Given the description of an element on the screen output the (x, y) to click on. 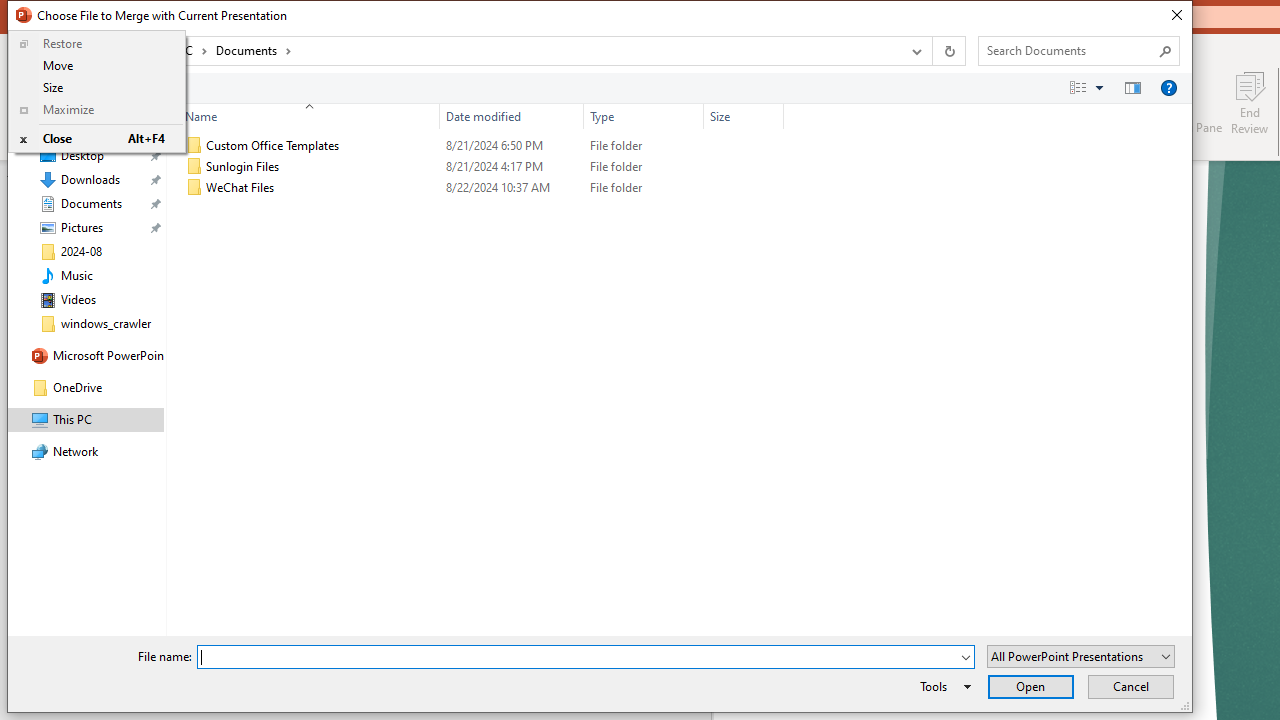
Custom Office Templates (480, 145)
Cancel (1130, 686)
Search (1165, 50)
Date modified (511, 115)
Forward (Alt + Right Arrow) (56, 51)
Organize (56, 87)
Open (1030, 686)
End Review (1249, 102)
WeChat Files (480, 187)
Type (643, 115)
Restore (97, 43)
Search Box (1069, 50)
Type (643, 187)
Recent locations (79, 51)
Documents (253, 50)
